Given the description of an element on the screen output the (x, y) to click on. 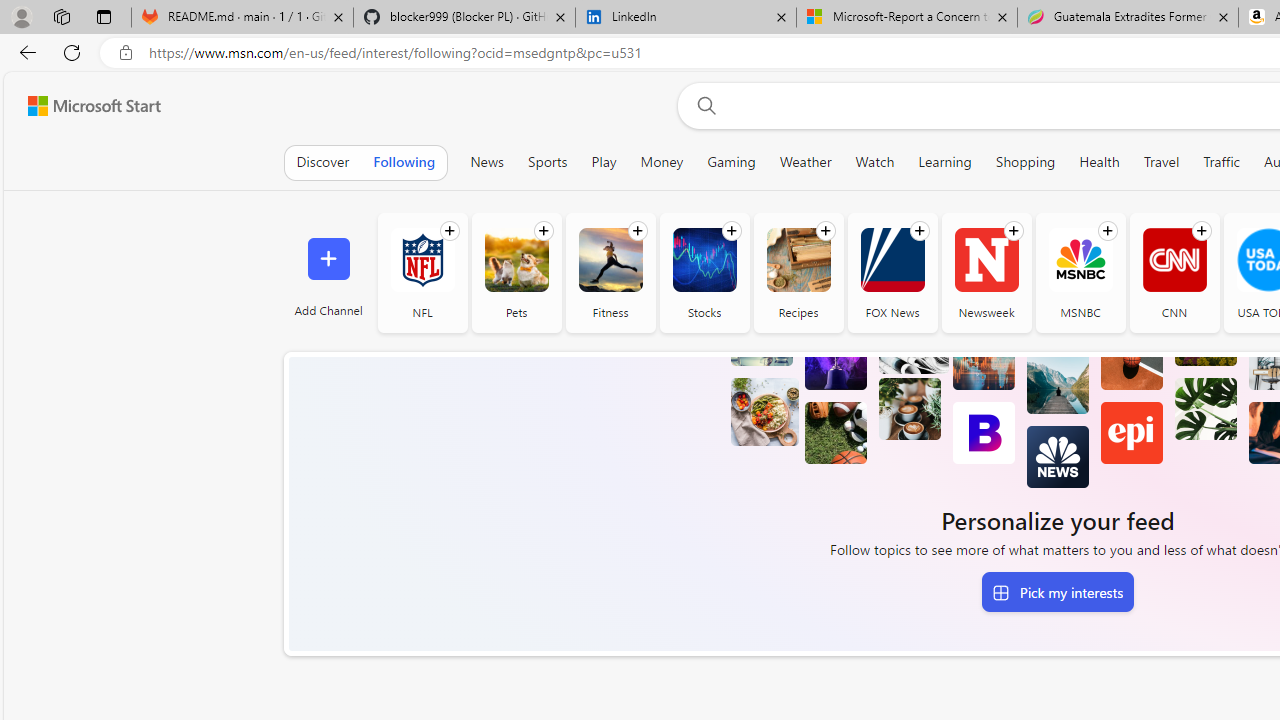
Health (1099, 161)
Traffic (1221, 161)
Gaming (731, 161)
CNN (1173, 272)
Health (1099, 162)
Fitness (609, 272)
